Given the description of an element on the screen output the (x, y) to click on. 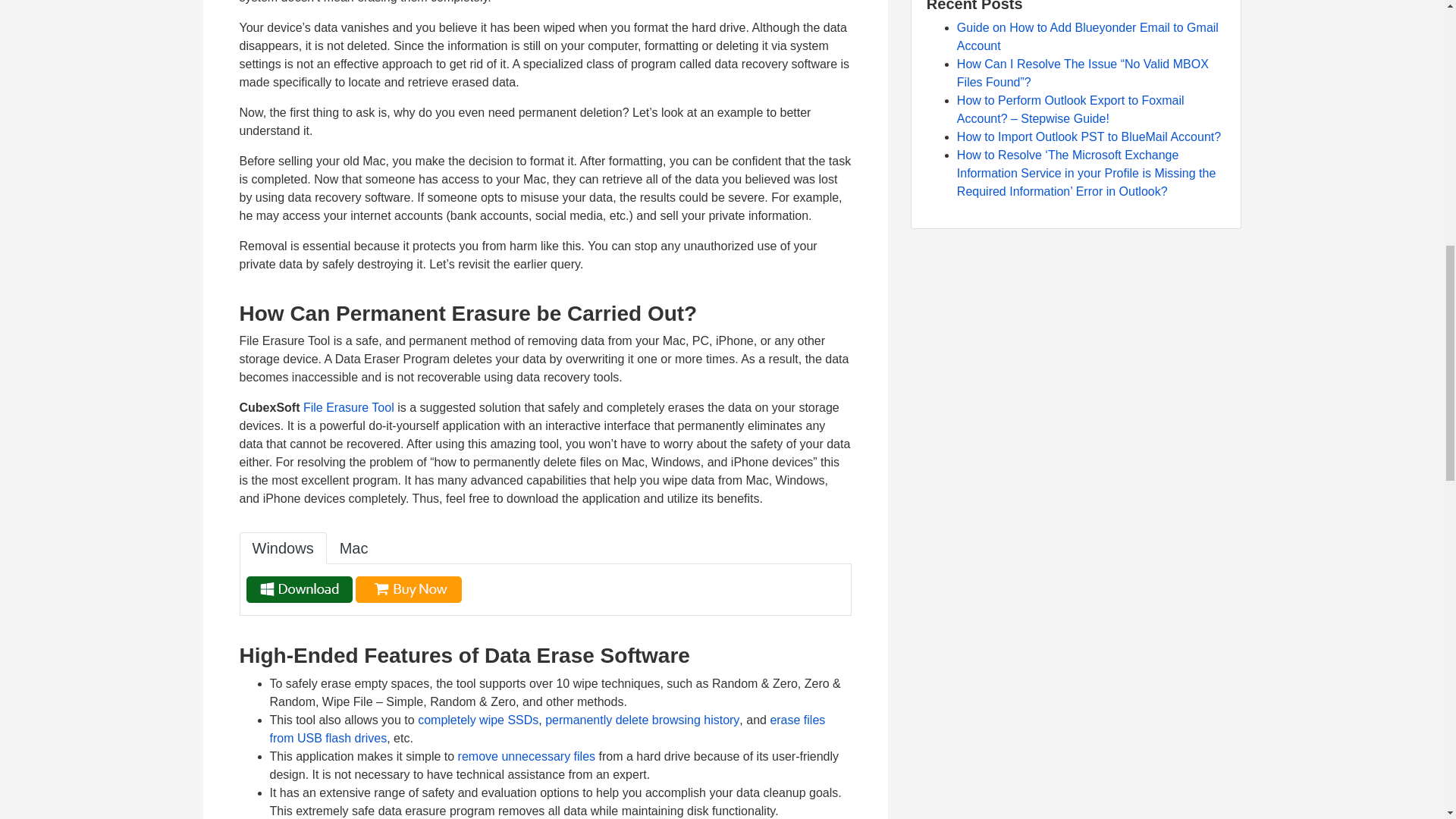
Mac (353, 548)
Windows (283, 548)
remove unnecessary files (526, 756)
File Erasure Tool (348, 407)
permanently delete browsing history (641, 719)
completely wipe SSDs (477, 719)
How to Import Outlook PST to BlueMail Account? (1088, 136)
erase files from USB flash drives (547, 728)
Guide on How to Add Blueyonder Email to Gmail Account (1087, 36)
